Given the description of an element on the screen output the (x, y) to click on. 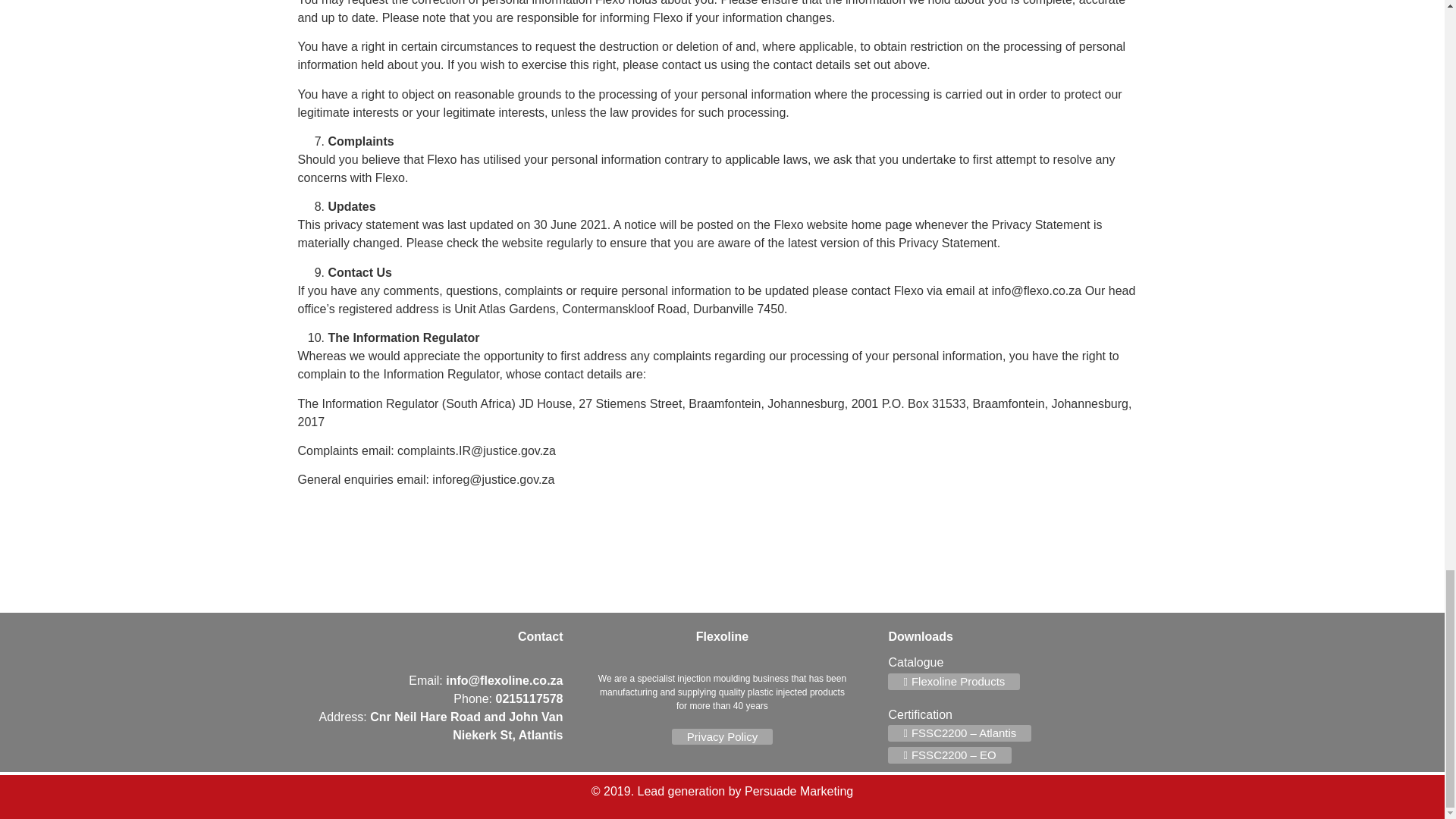
0215117578 (529, 698)
Flexoline Products (954, 681)
Privacy Policy (722, 736)
Persuade Marketing (798, 790)
